Given the description of an element on the screen output the (x, y) to click on. 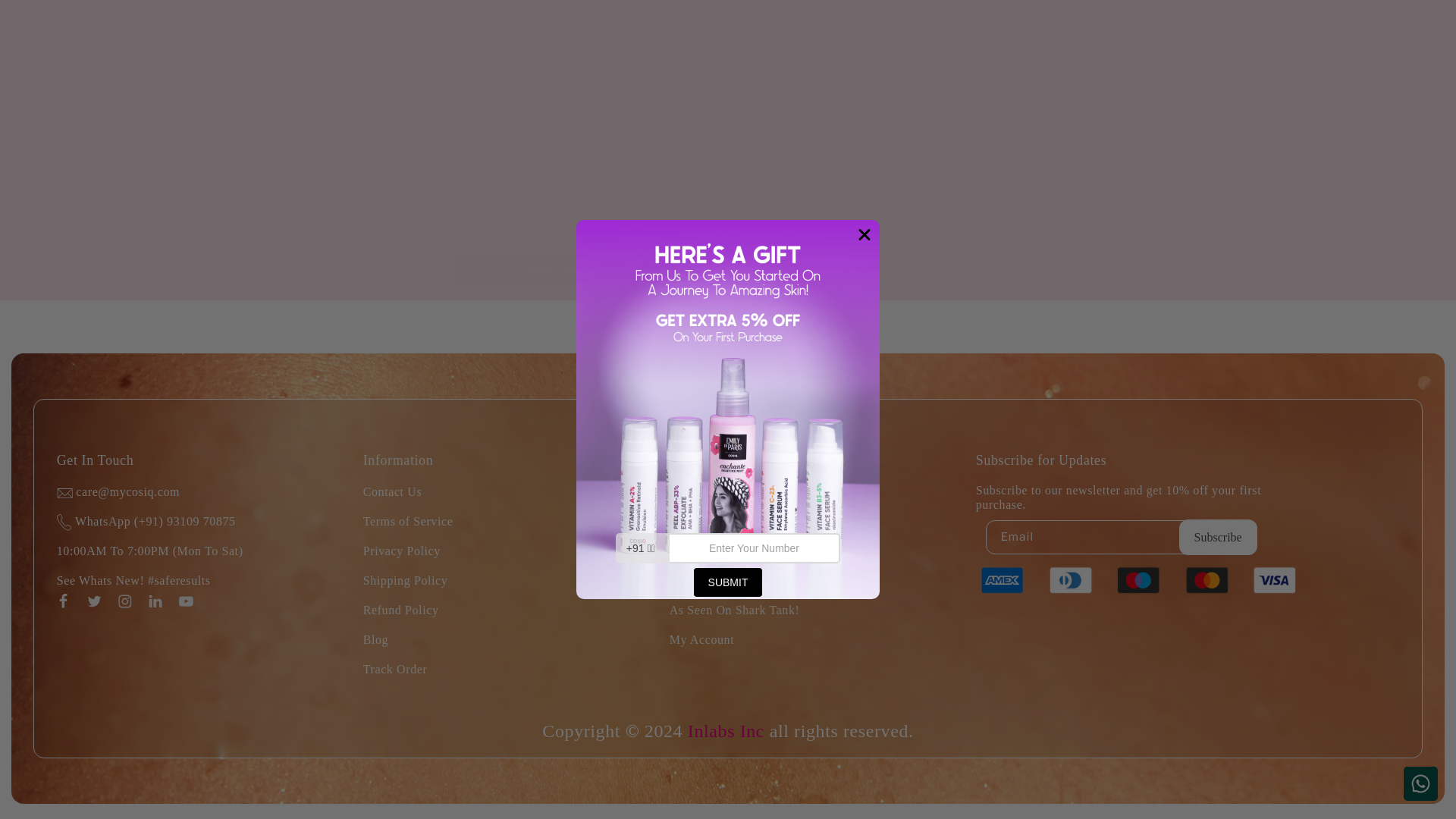
Post comment (565, 270)
